Given the description of an element on the screen output the (x, y) to click on. 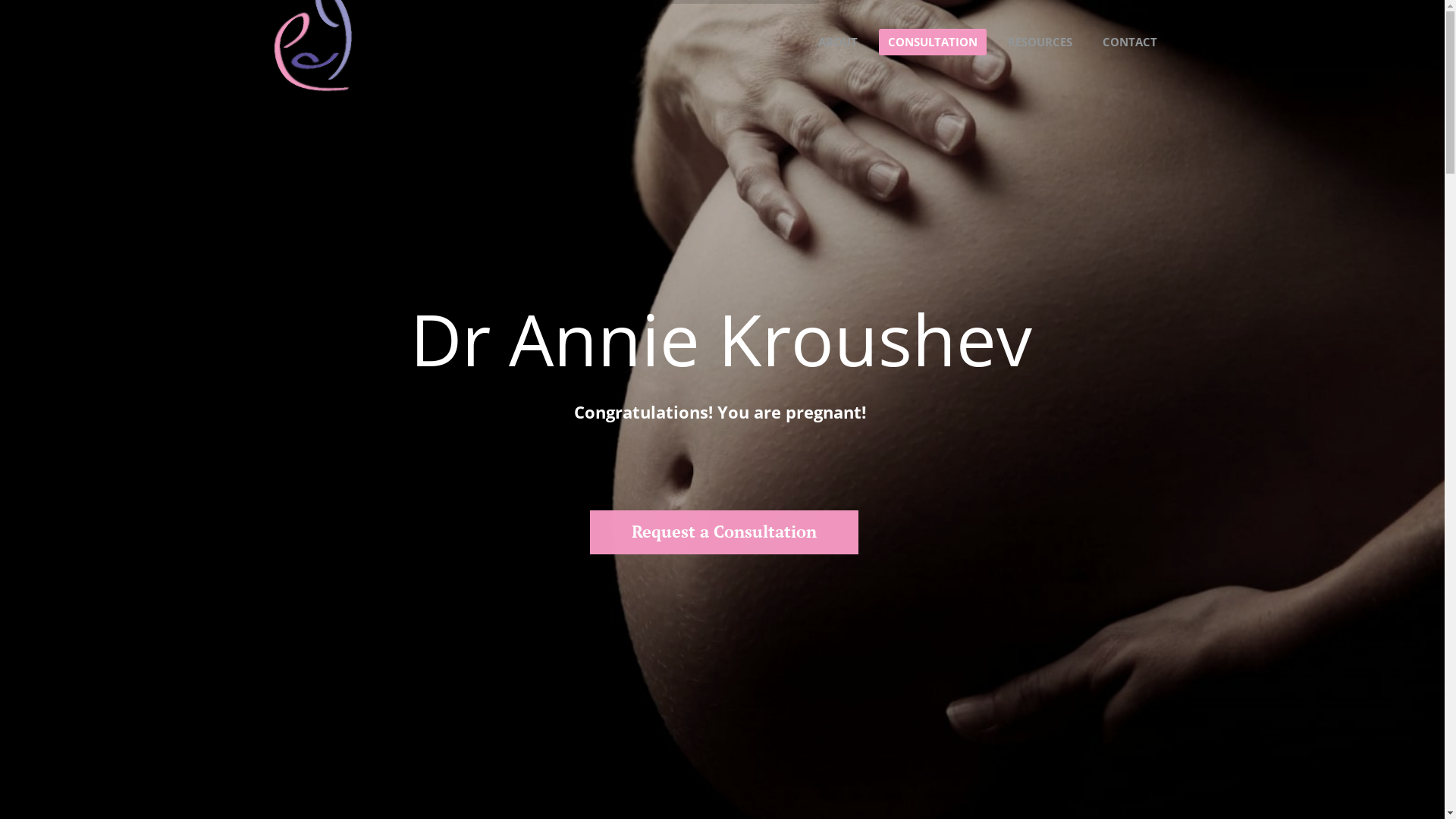
Request a Consultation Element type: text (723, 532)
CONSULTATION Element type: text (931, 41)
CONTACT Element type: text (1129, 41)
Powered by iPresence Element type: text (84, 795)
ABOUT Element type: text (837, 41)
RESOURCES Element type: text (1038, 41)
